Given the description of an element on the screen output the (x, y) to click on. 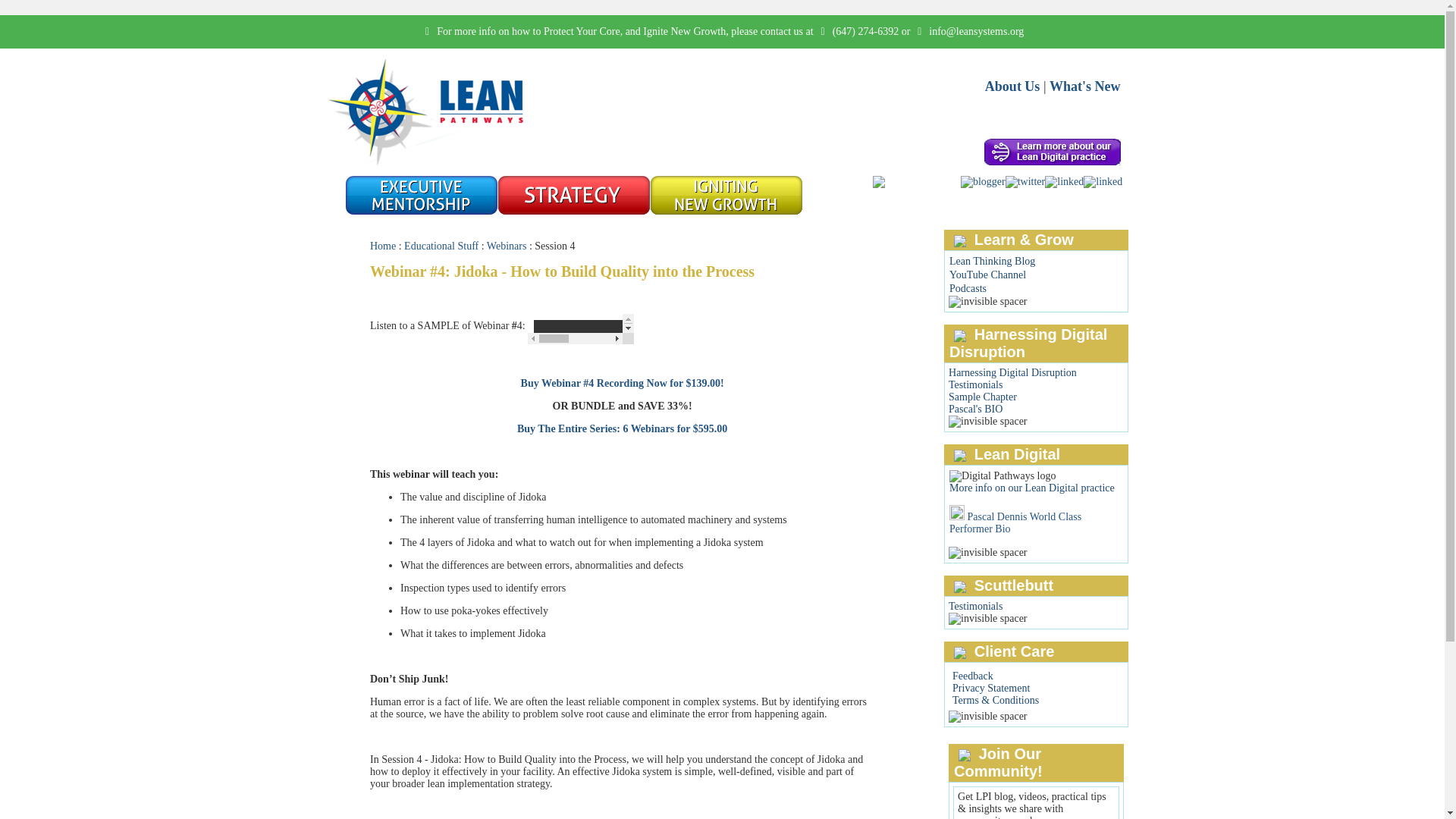
About Us (1013, 86)
Educational Stuff (441, 245)
Home (382, 245)
Webinars (506, 245)
What's New (1085, 86)
